Given the description of an element on the screen output the (x, y) to click on. 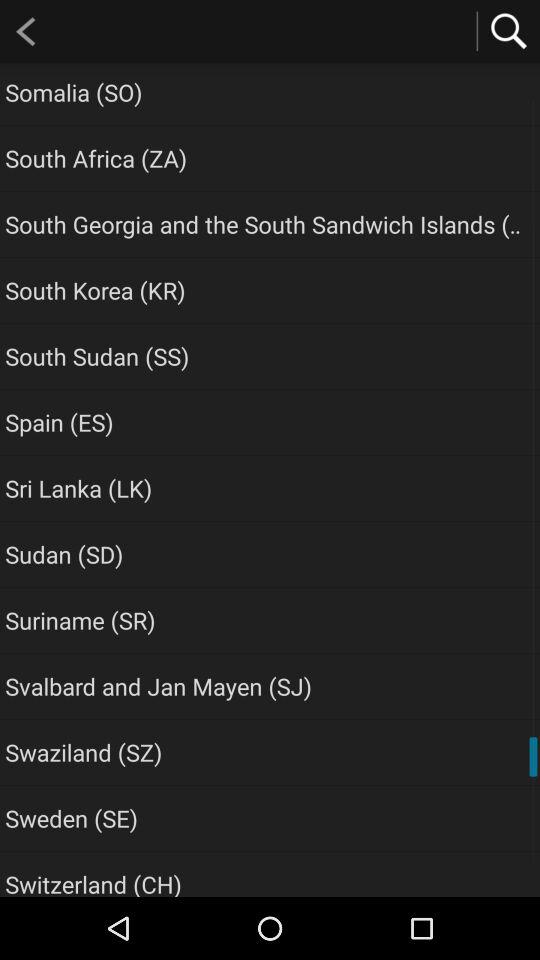
select the icon at the top (265, 224)
